Given the description of an element on the screen output the (x, y) to click on. 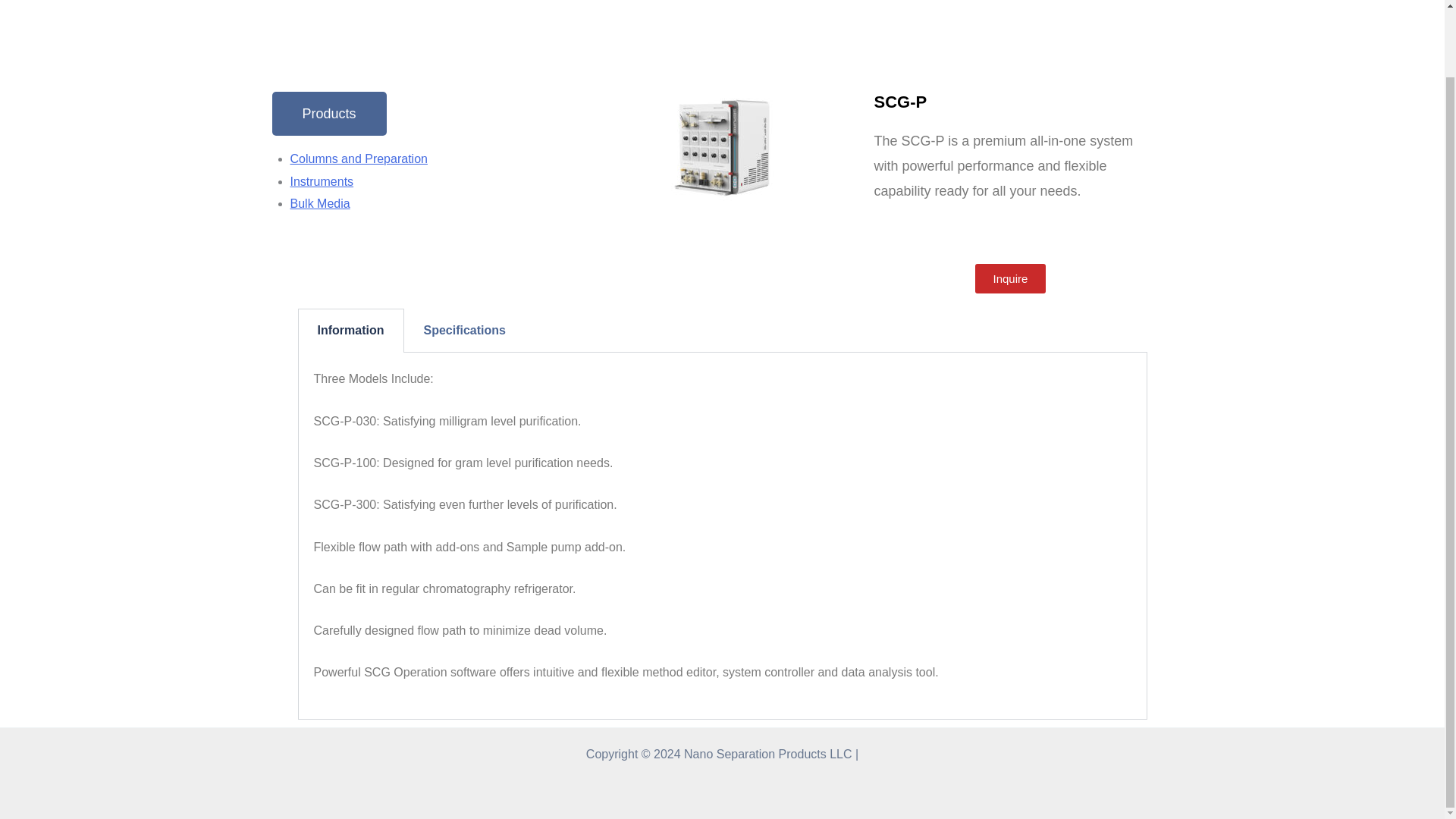
Columns and Preparation (357, 158)
Bulk Media (319, 203)
Inquire (1010, 278)
Products (327, 113)
Instruments (321, 181)
